Given the description of an element on the screen output the (x, y) to click on. 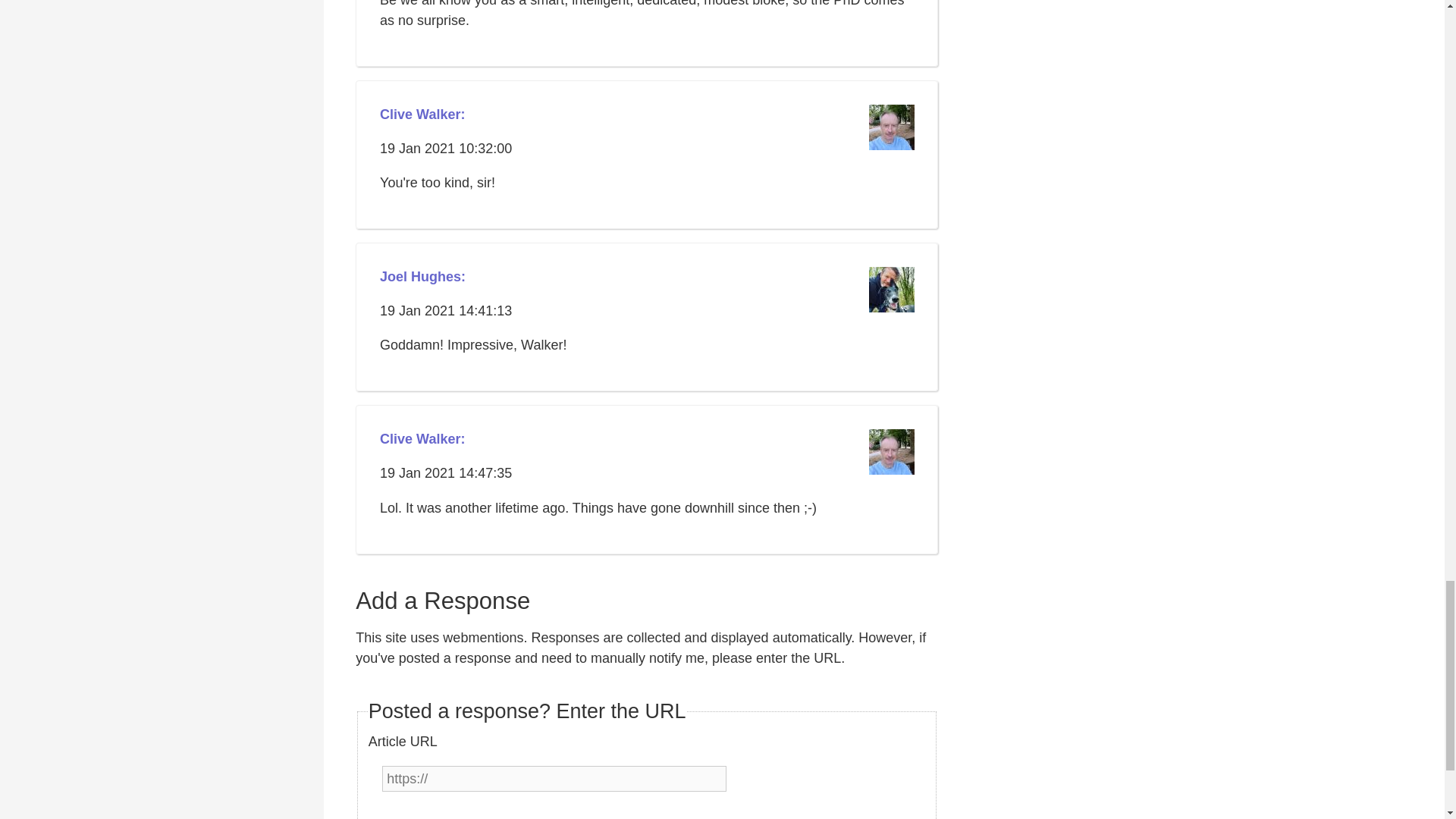
Joel Hughes: (422, 277)
Clive Walker: (422, 439)
Clive Walker: (422, 115)
